Given the description of an element on the screen output the (x, y) to click on. 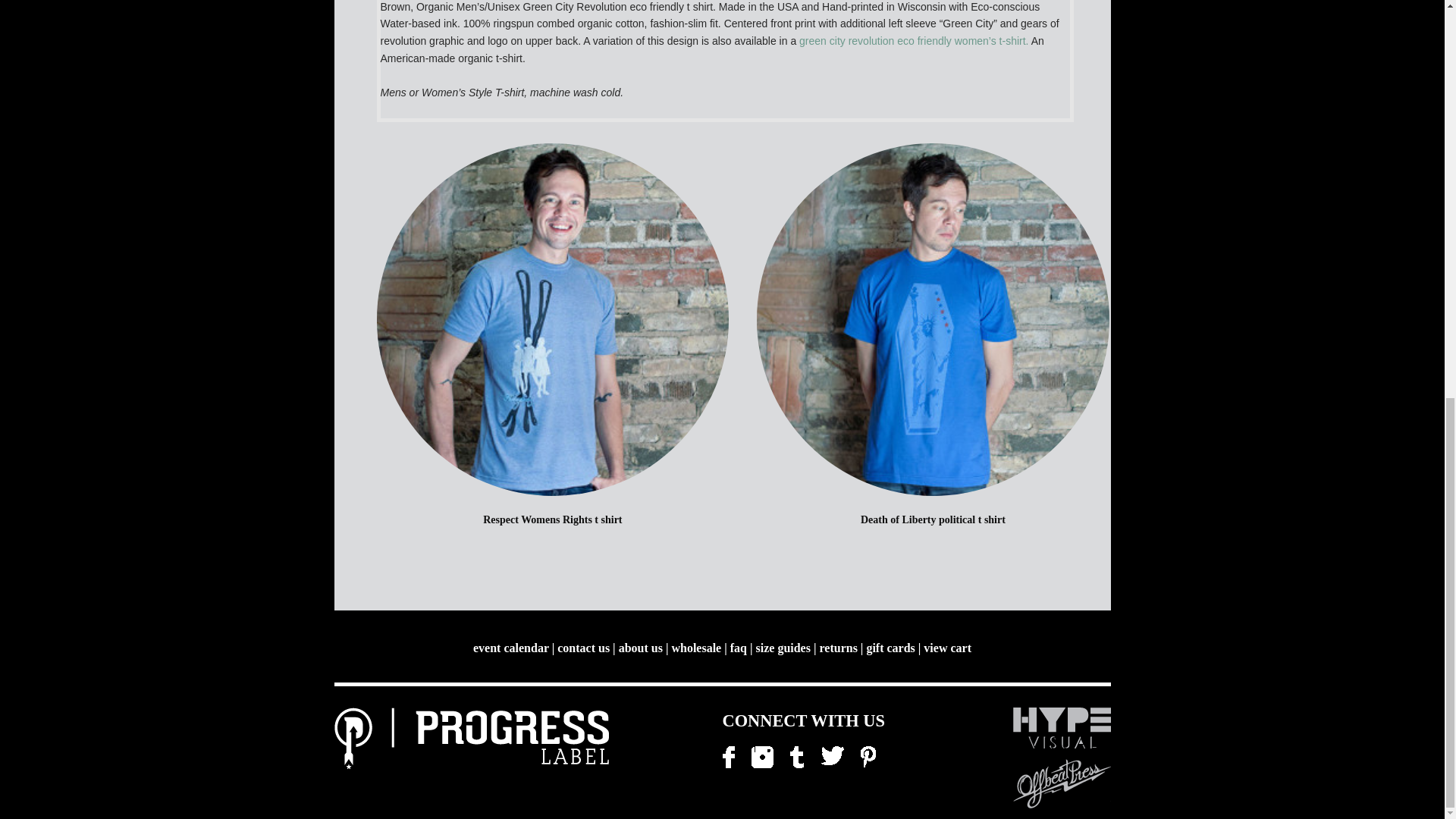
Death of Liberty political t shirt (933, 319)
Respect Womens Rights t shirt (552, 319)
Death of Liberty political t shirt (933, 519)
Respect Womens Rights t shirt (552, 519)
